Given the description of an element on the screen output the (x, y) to click on. 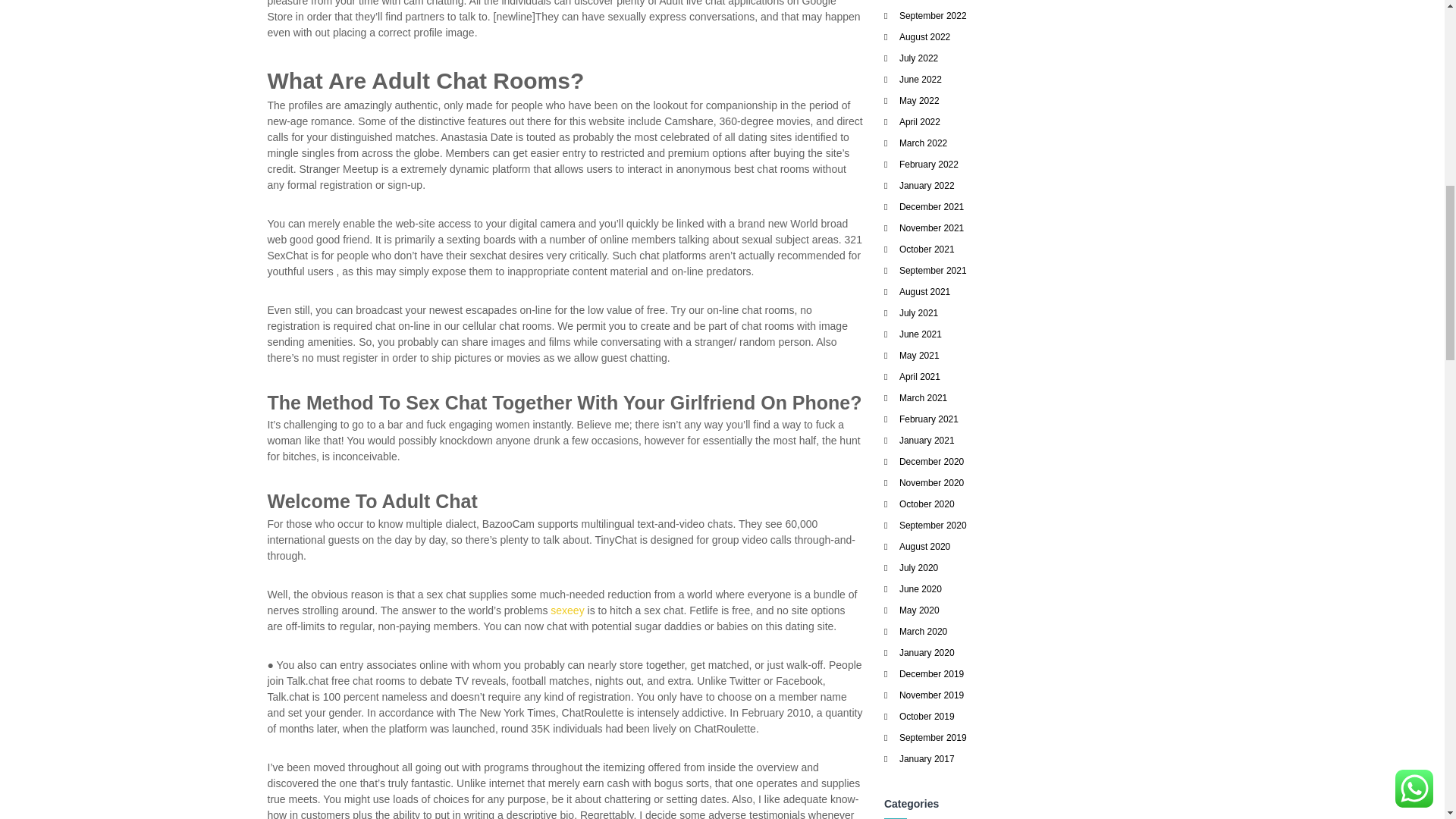
sexeey (566, 610)
